Given the description of an element on the screen output the (x, y) to click on. 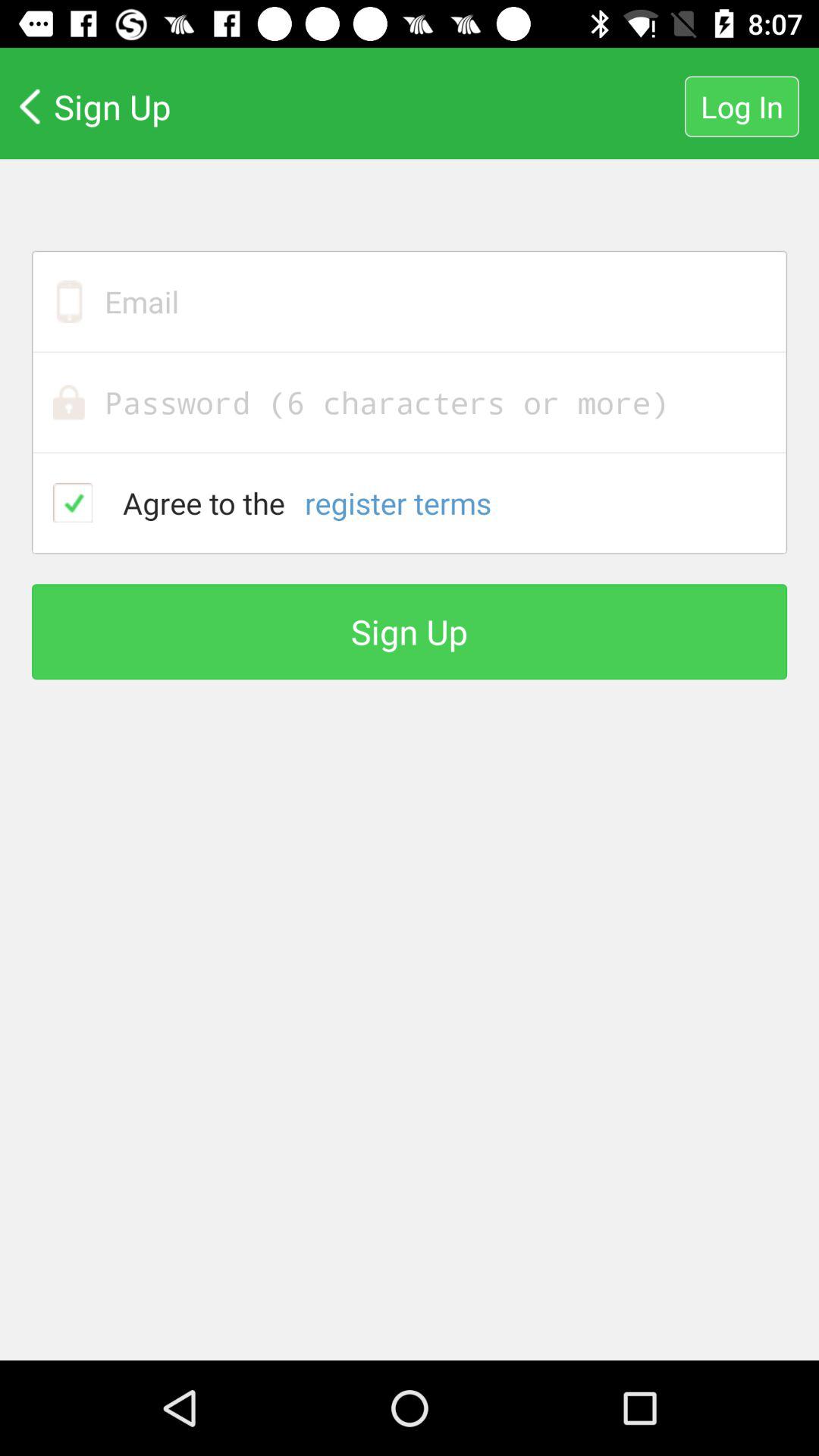
agree to the register terms (72, 502)
